Given the description of an element on the screen output the (x, y) to click on. 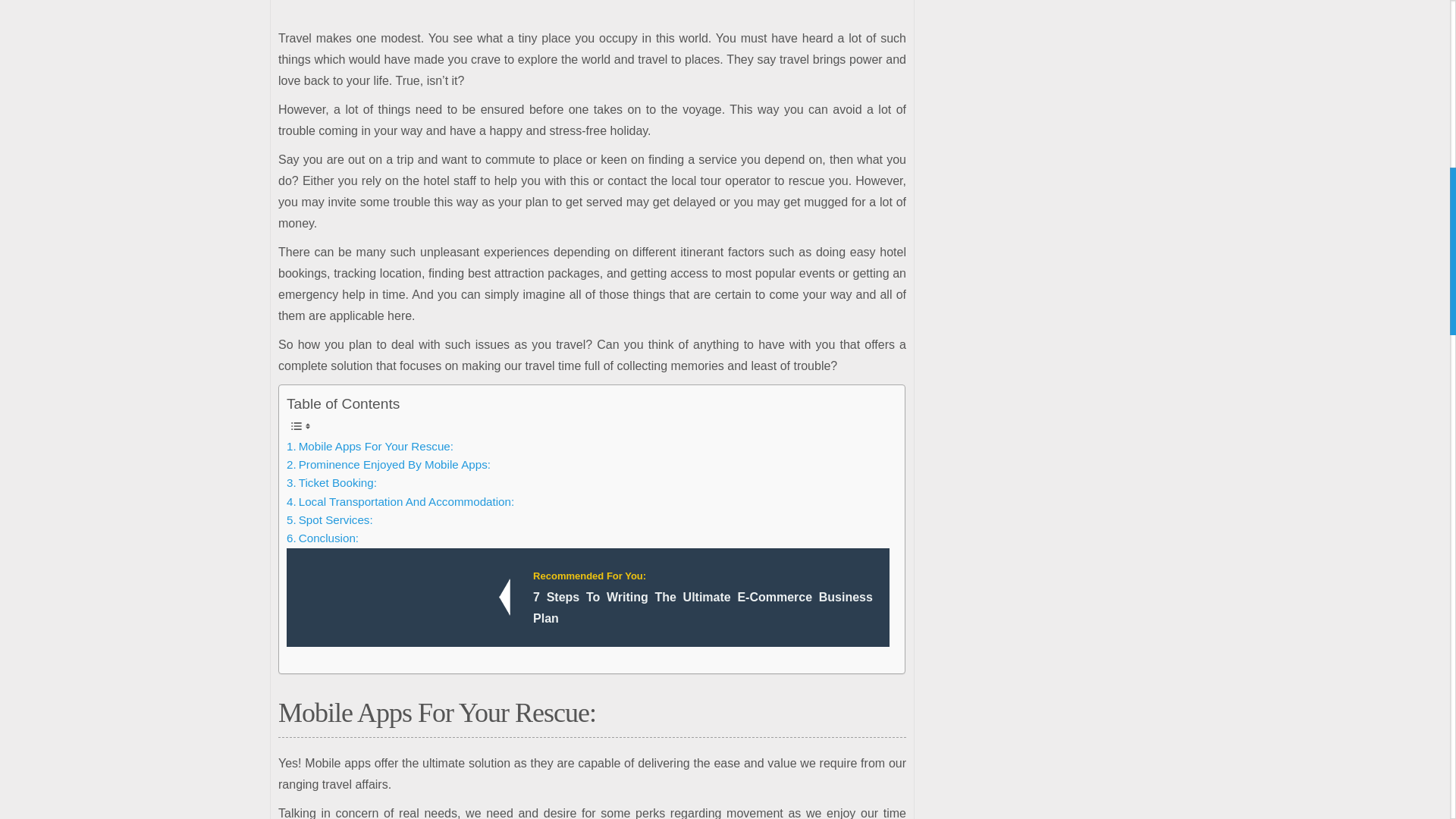
Ticket Booking: (331, 483)
Mobile Apps For Your Rescue: (369, 446)
Spot Services: (329, 520)
Ticket Booking: (331, 483)
Mobile Apps For Your Rescue: (369, 446)
Conclusion: (322, 538)
Spot Services: (329, 520)
Local Transportation And Accommodation: (399, 502)
Prominence Enjoyed By Mobile Apps: (388, 464)
